Given the description of an element on the screen output the (x, y) to click on. 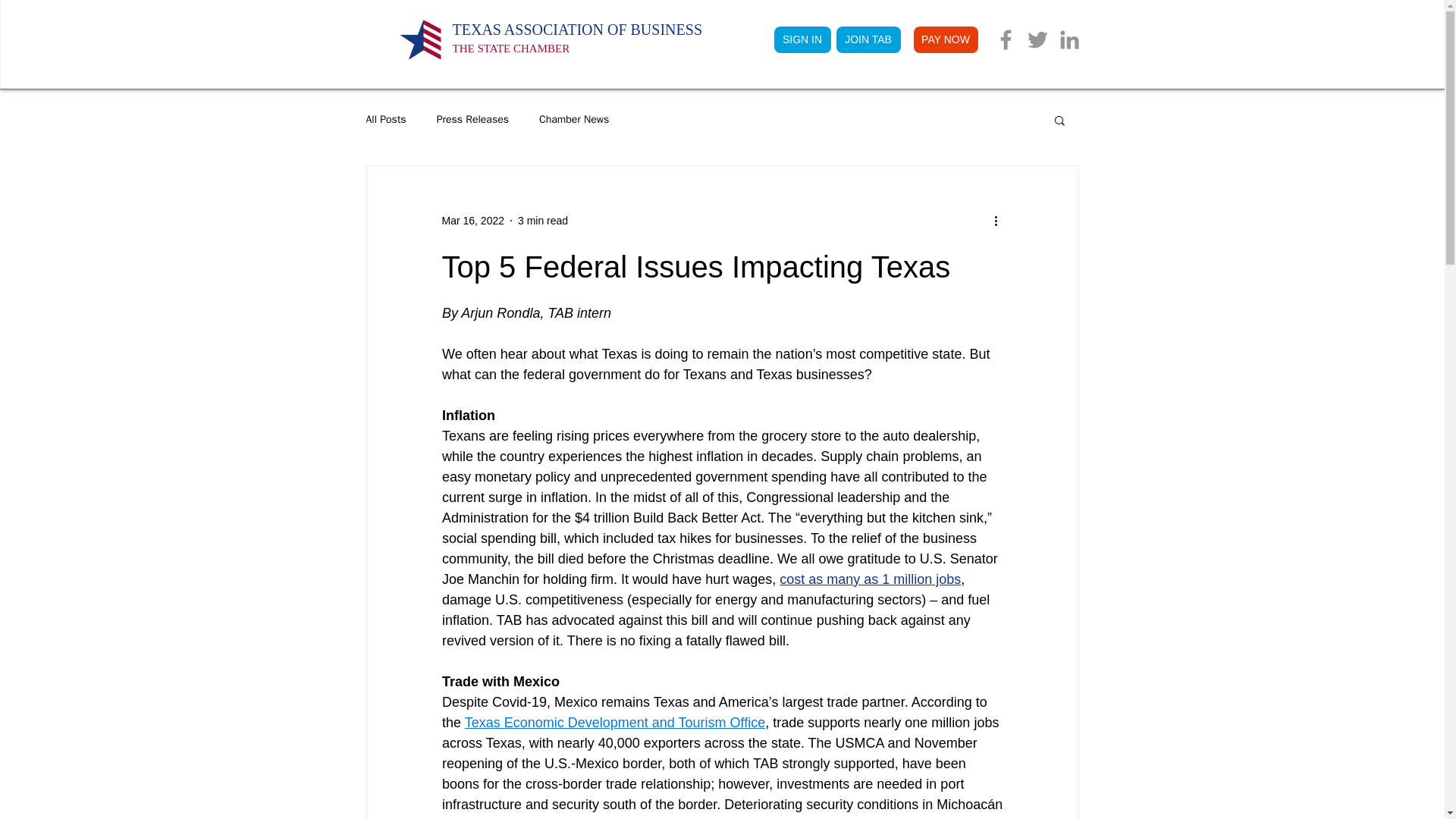
Chamber News (573, 119)
Press Releases (472, 119)
All Posts (385, 119)
cost as many as 1 million jobs (576, 38)
Mar 16, 2022 (869, 579)
PAY NOW (472, 219)
3 min read (944, 39)
Texas Economic Development and Tourism Office (542, 219)
JOIN TAB (614, 722)
